Given the description of an element on the screen output the (x, y) to click on. 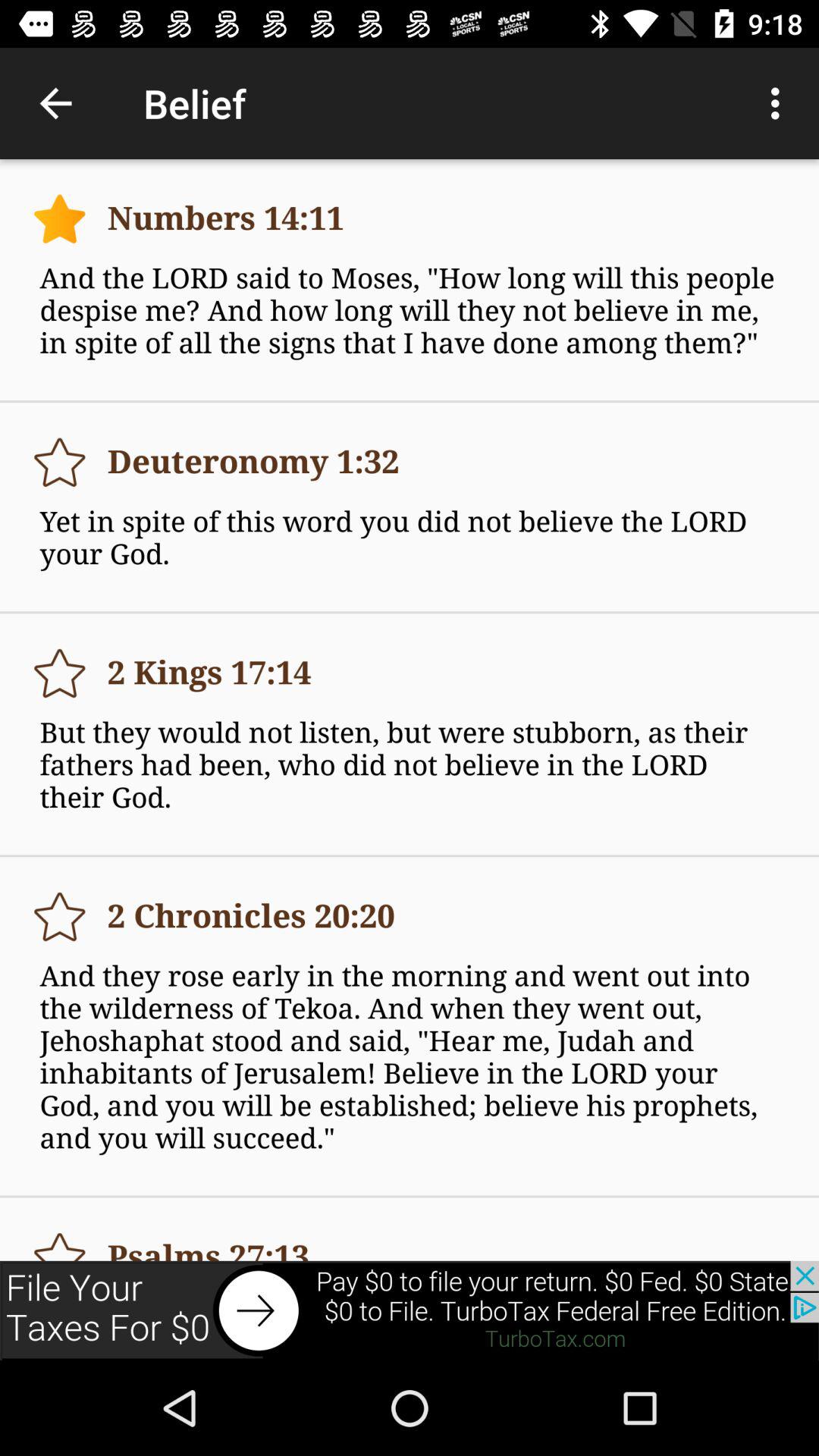
menu simple (59, 916)
